Given the description of an element on the screen output the (x, y) to click on. 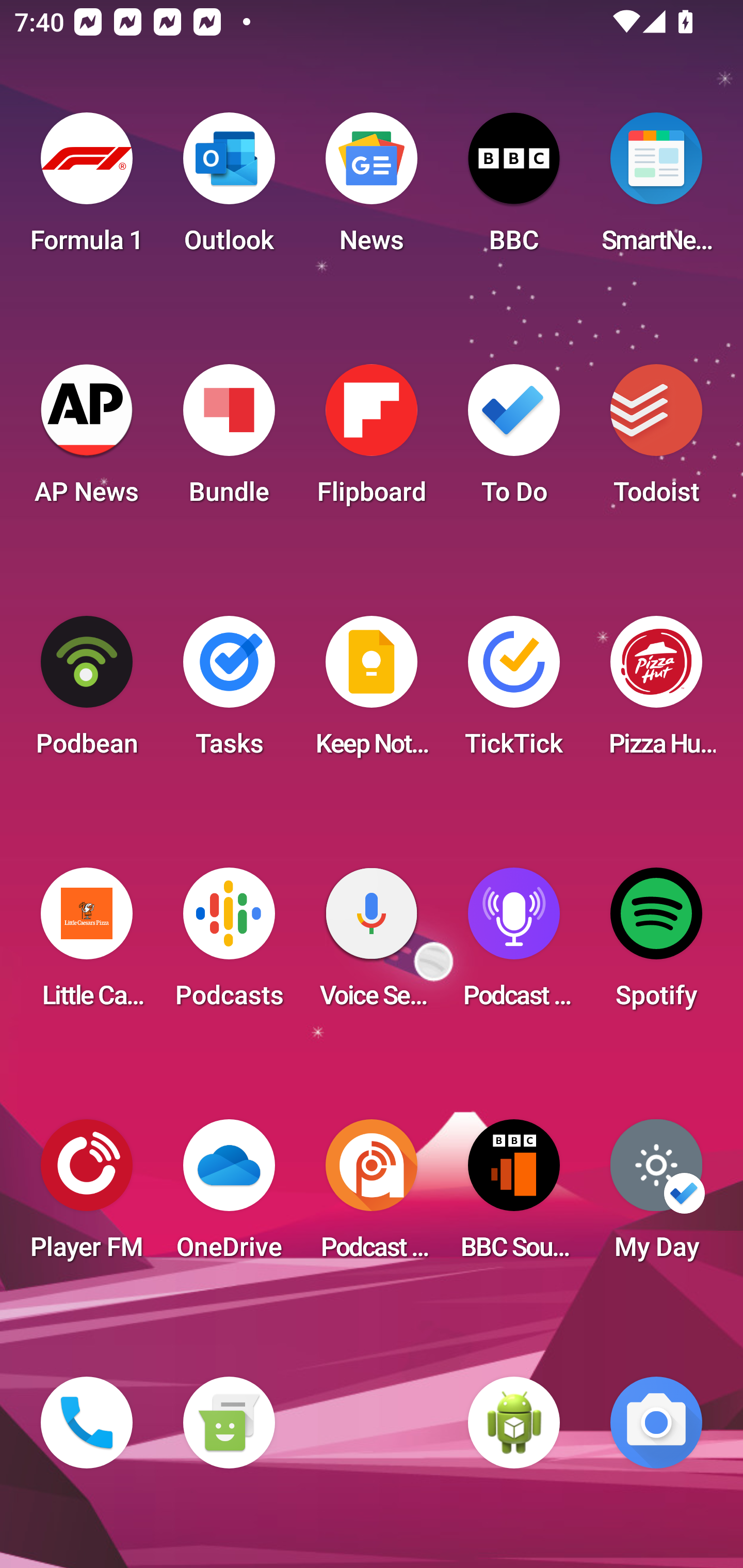
Formula 1 (86, 188)
Outlook (228, 188)
News (371, 188)
BBC (513, 188)
SmartNews (656, 188)
AP News (86, 440)
Bundle (228, 440)
Flipboard (371, 440)
To Do (513, 440)
Todoist (656, 440)
Podbean (86, 692)
Tasks (228, 692)
Keep Notes (371, 692)
TickTick (513, 692)
Pizza Hut HK & Macau (656, 692)
Little Caesars Pizza (86, 943)
Podcasts (228, 943)
Voice Search (371, 943)
Podcast Player (513, 943)
Spotify (656, 943)
Player FM (86, 1195)
OneDrive (228, 1195)
Podcast Addict (371, 1195)
BBC Sounds (513, 1195)
My Day (656, 1195)
Phone (86, 1422)
Messaging (228, 1422)
WebView Browser Tester (513, 1422)
Camera (656, 1422)
